Given the description of an element on the screen output the (x, y) to click on. 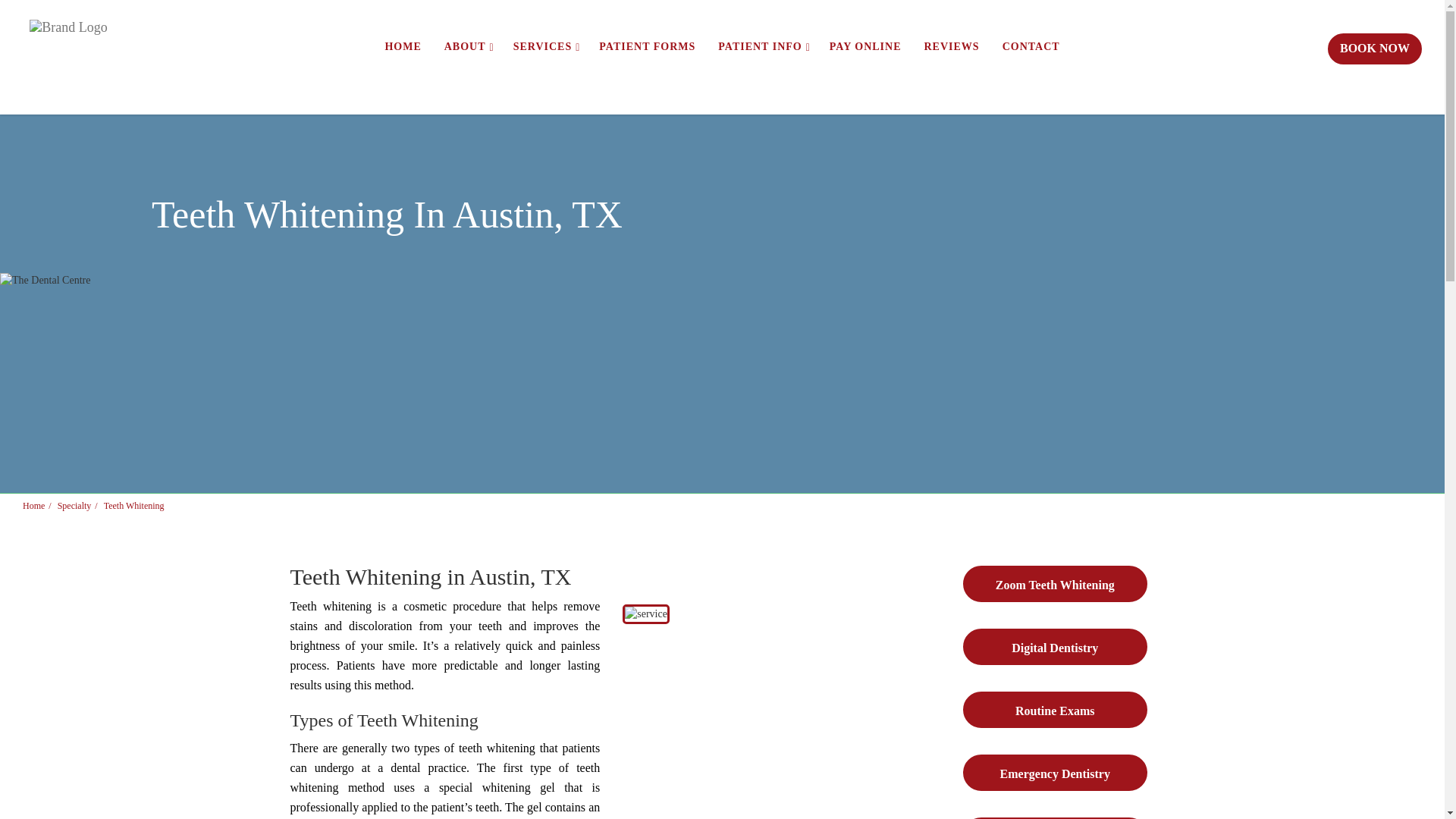
HOME (402, 46)
PATIENT INFO (762, 46)
REVIEWS (951, 46)
PAY ONLINE (865, 46)
BOOK NOW (1374, 48)
service (646, 614)
CONTACT (1031, 46)
SERVICES (545, 46)
PATIENT FORMS (647, 46)
Brand Logo (67, 40)
ABOUT (467, 46)
